Given the description of an element on the screen output the (x, y) to click on. 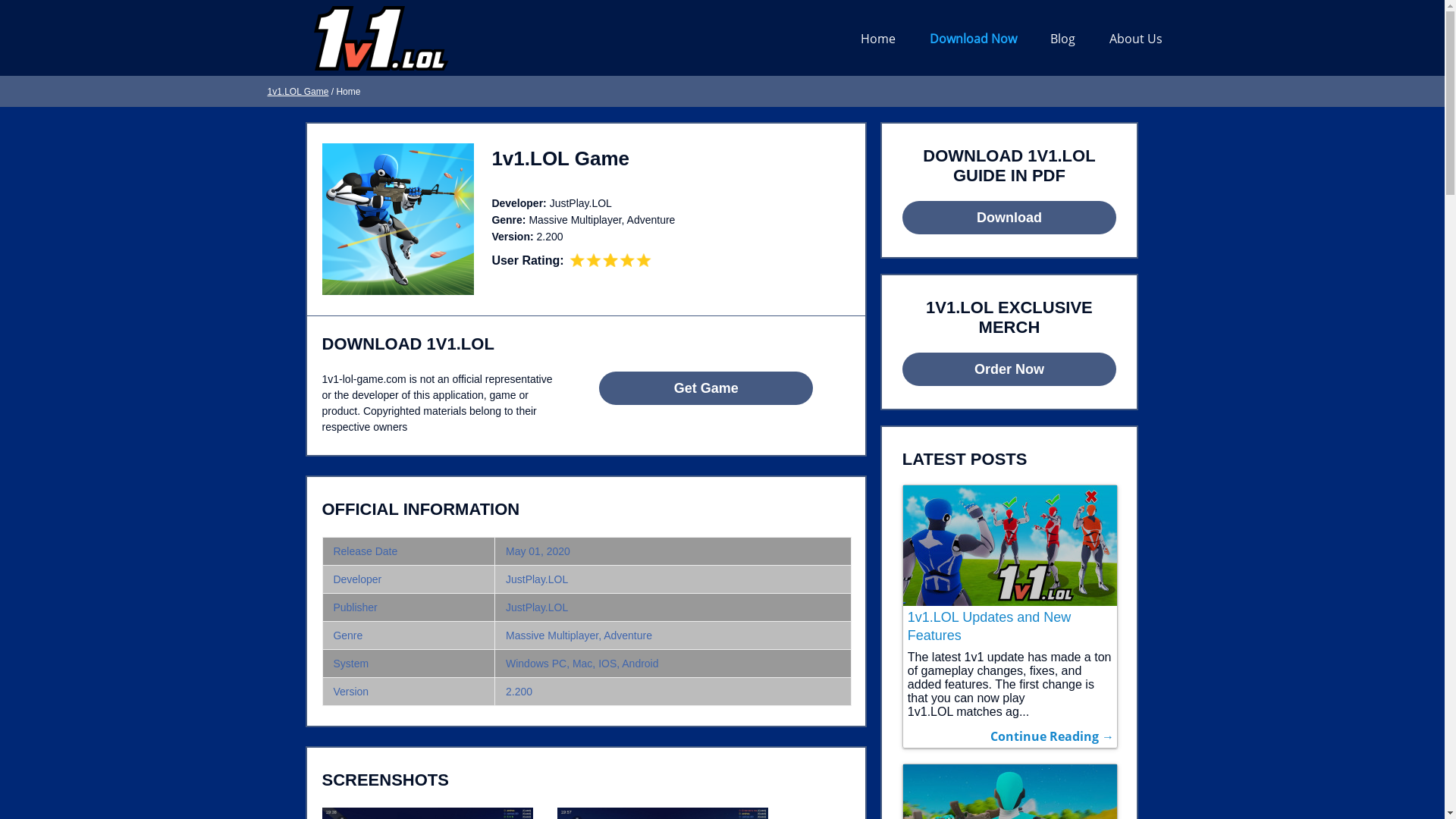
Download Element type: text (1009, 217)
Home Element type: text (877, 38)
1v1.LOL Game Element type: text (297, 91)
Order Now Element type: text (1009, 368)
Download Now Element type: text (972, 38)
Get Game Element type: text (705, 387)
Blog Element type: text (1062, 38)
About Us Element type: text (1134, 38)
